Given the description of an element on the screen output the (x, y) to click on. 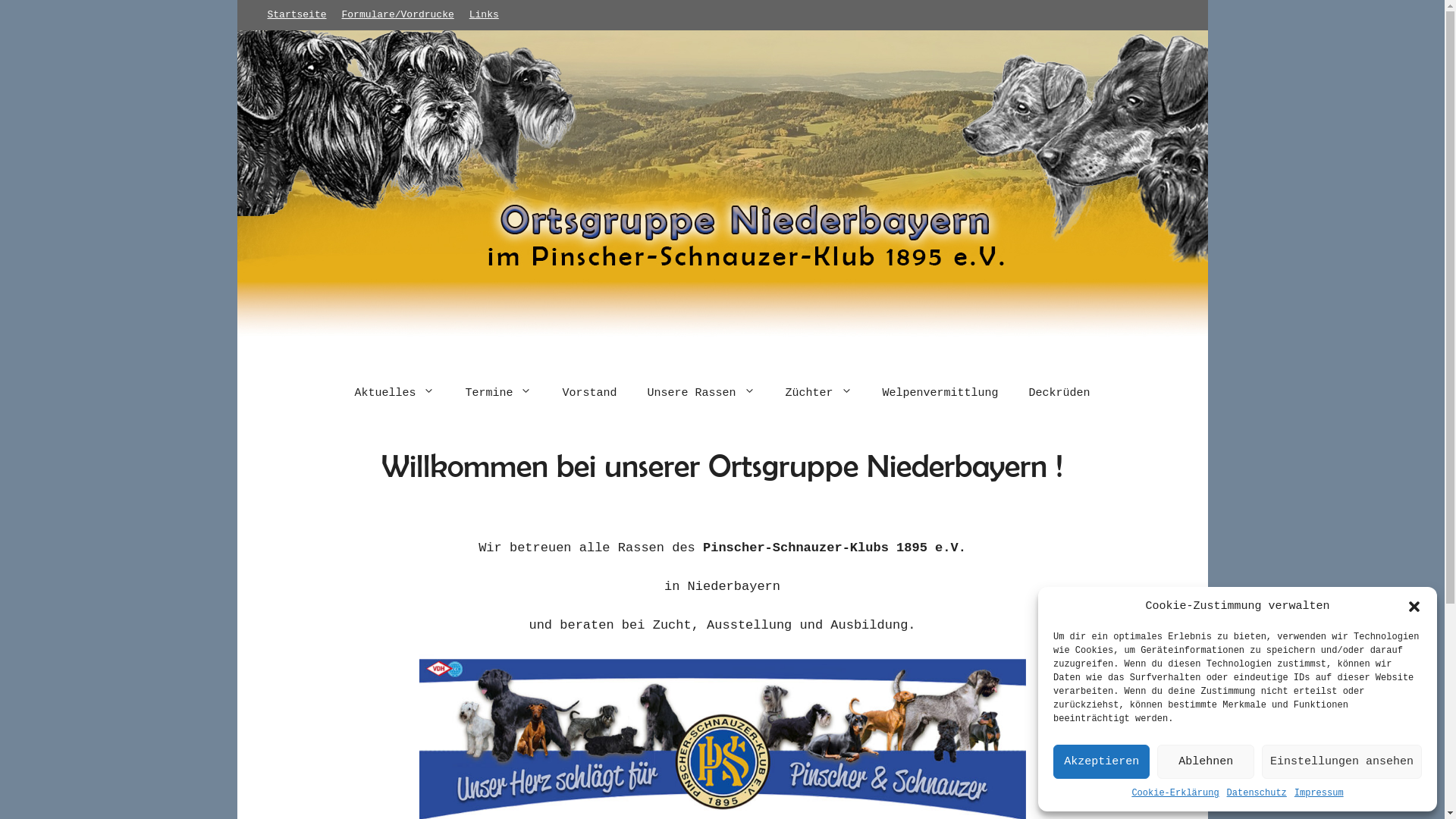
Termine Element type: text (497, 392)
Welpenvermittlung Element type: text (940, 392)
Aktuelles Element type: text (393, 392)
Unsere Rassen Element type: text (700, 392)
Einstellungen ansehen Element type: text (1341, 761)
Datenschutz Element type: text (1256, 793)
Links Element type: text (483, 14)
Impressum Element type: text (1318, 793)
Vorstand Element type: text (588, 392)
Startseite Element type: text (296, 14)
Ablehnen Element type: text (1205, 761)
Akzeptieren Element type: text (1101, 761)
Formulare/Vordrucke Element type: text (398, 14)
